Given the description of an element on the screen output the (x, y) to click on. 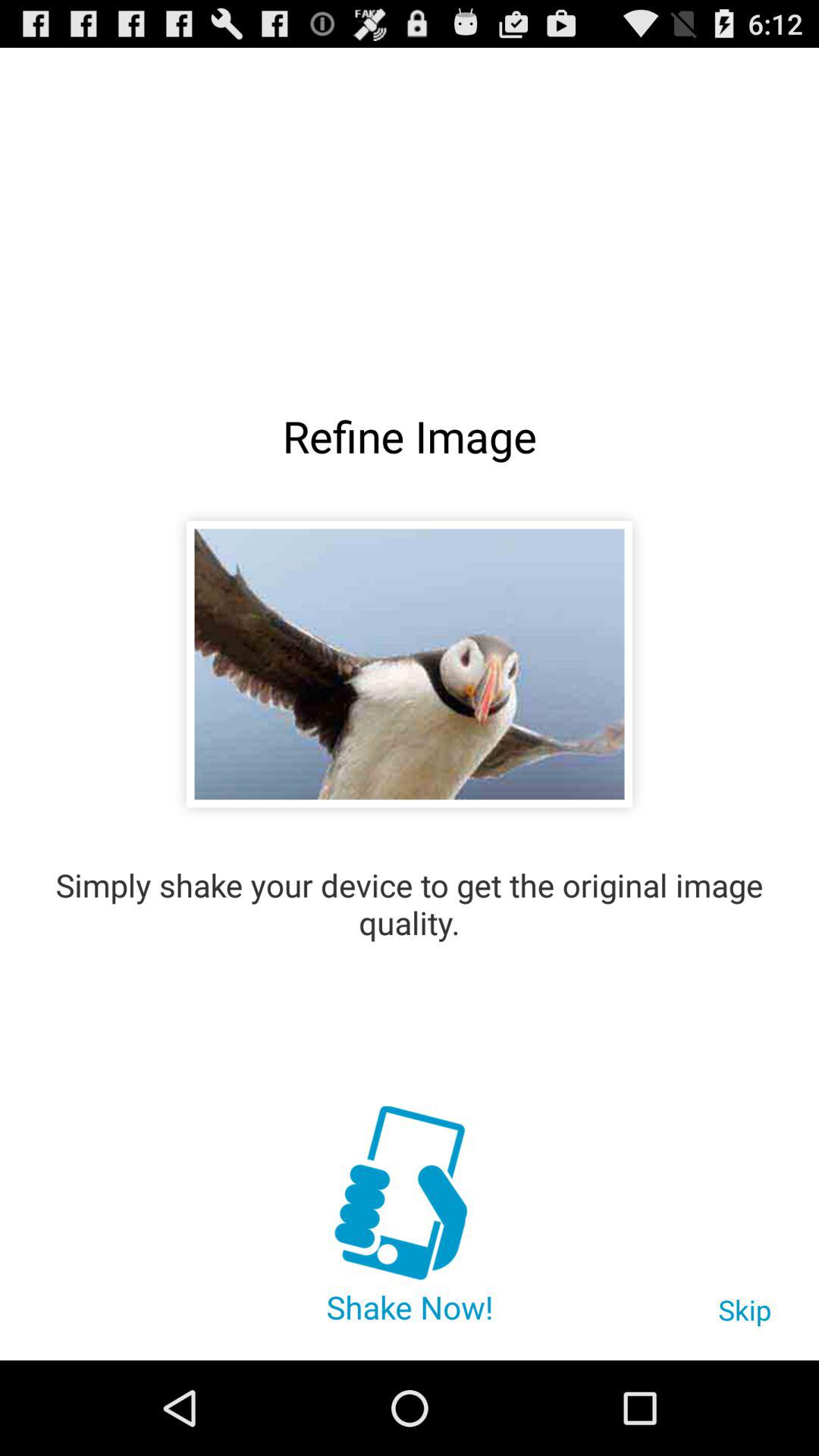
tap item below the simply shake your app (408, 1195)
